Given the description of an element on the screen output the (x, y) to click on. 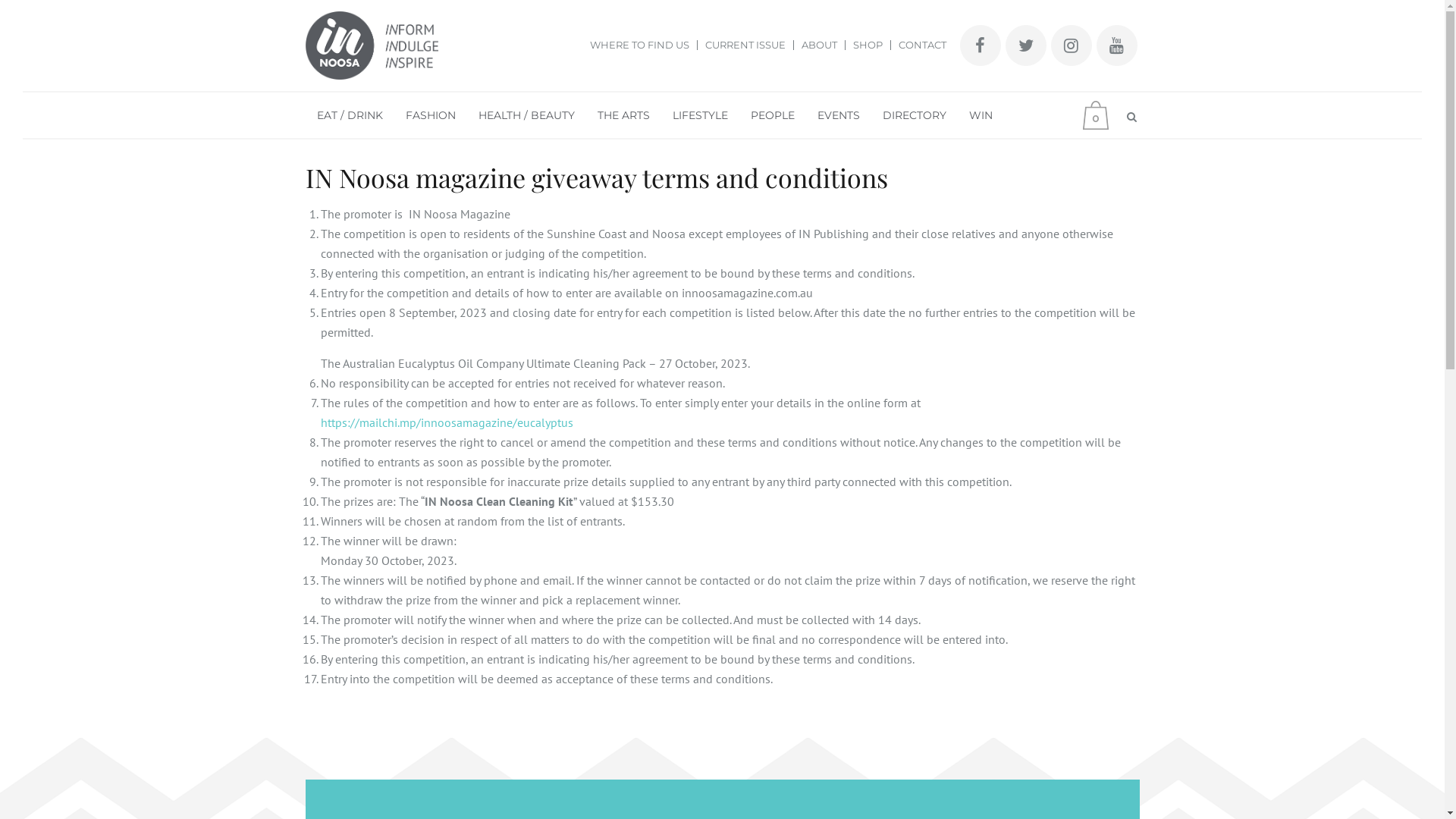
CONTACT Element type: text (917, 45)
EAT / DRINK Element type: text (348, 115)
LIFESTYLE Element type: text (700, 115)
PEOPLE Element type: text (771, 115)
THE ARTS Element type: text (622, 115)
SHOP Element type: text (867, 45)
CURRENT ISSUE Element type: text (745, 45)
ABOUT Element type: text (818, 45)
HEALTH / BEAUTY Element type: text (526, 115)
DIRECTORY Element type: text (913, 115)
WIN Element type: text (980, 115)
https://mailchi.mp/innoosamagazine/eucalyptus Element type: text (446, 421)
FASHION Element type: text (430, 115)
EVENTS Element type: text (837, 115)
WHERE TO FIND US Element type: text (639, 45)
0 Element type: text (1098, 114)
